Given the description of an element on the screen output the (x, y) to click on. 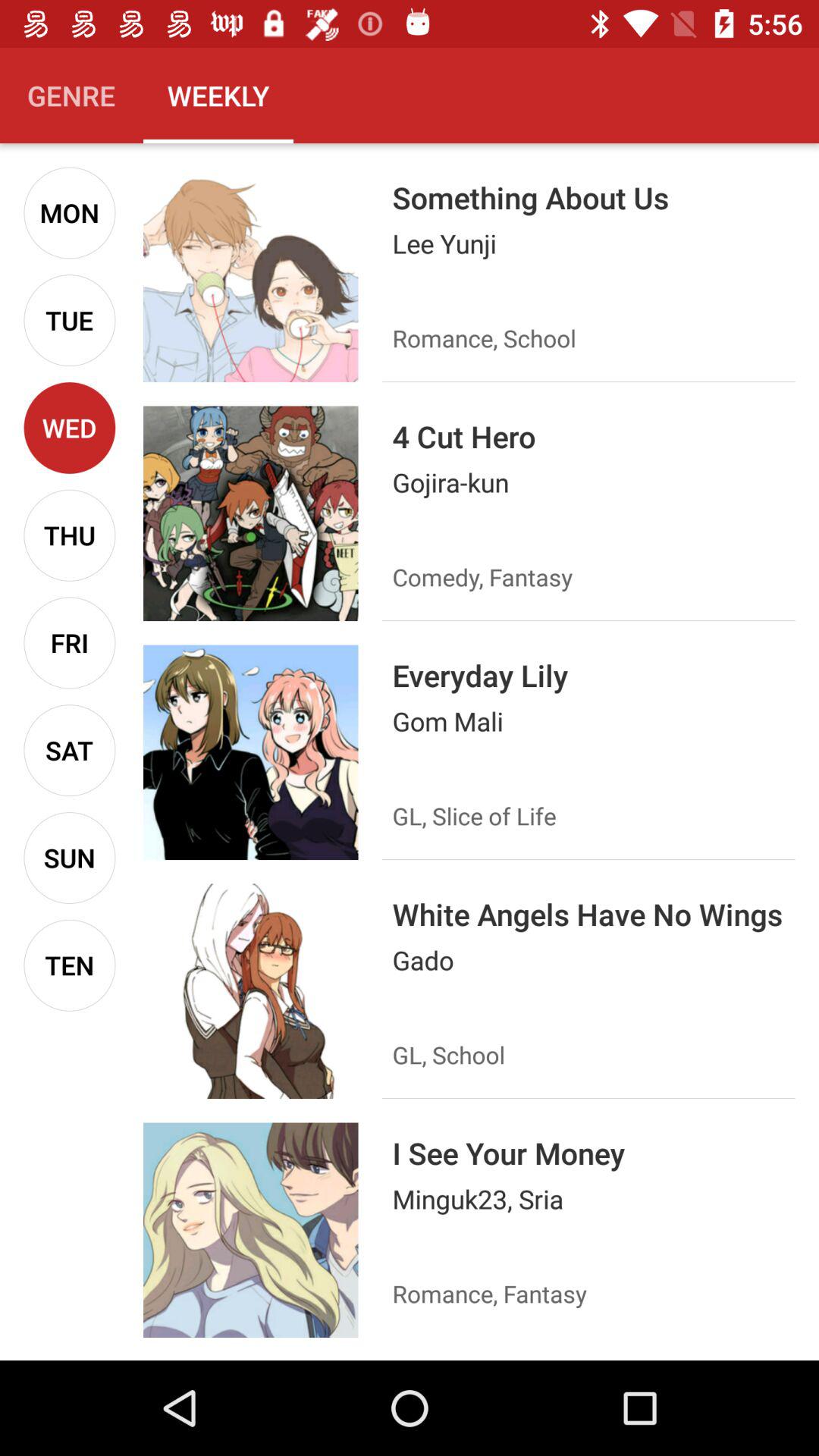
tap icon below the genre icon (69, 212)
